Given the description of an element on the screen output the (x, y) to click on. 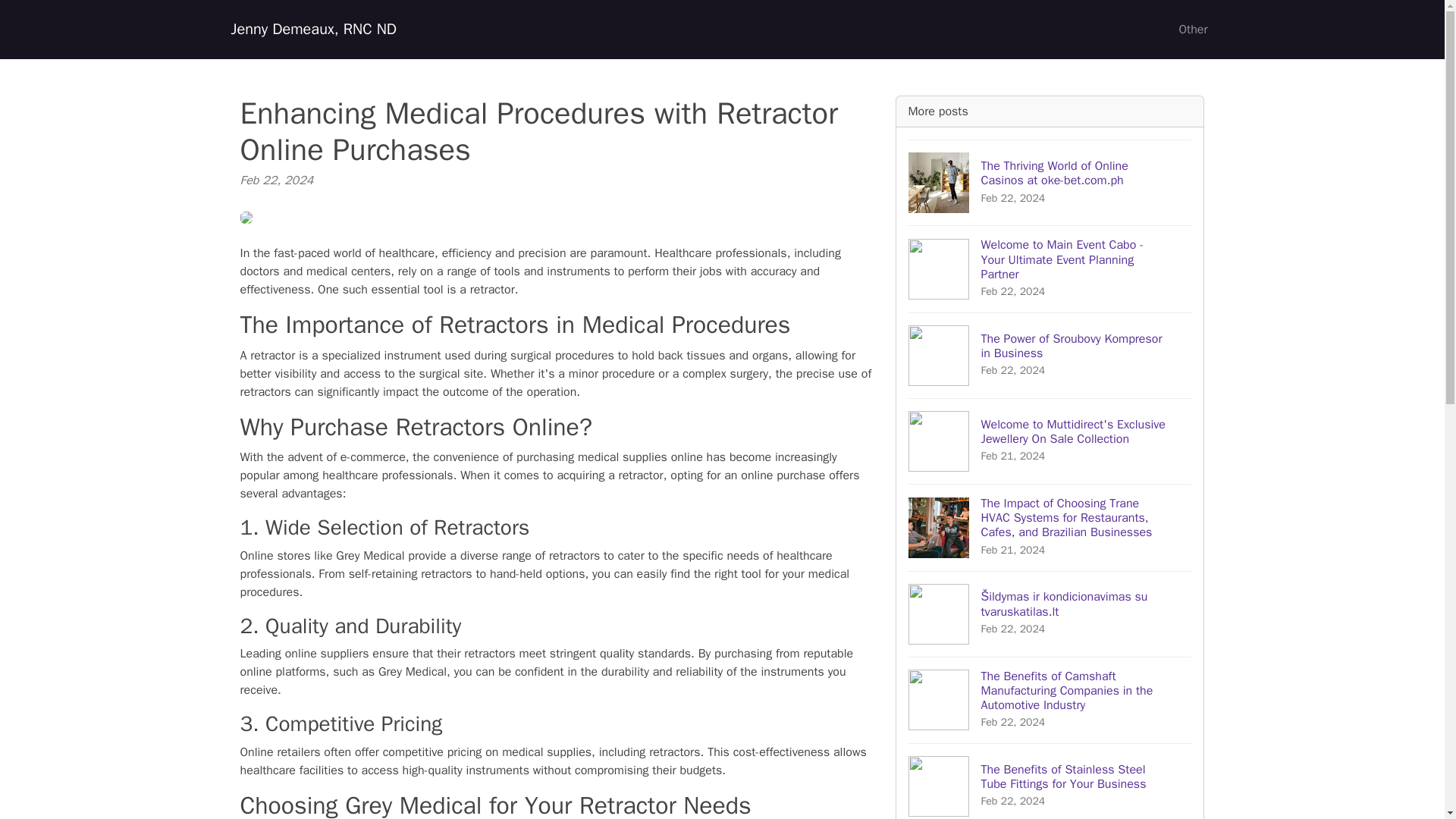
Jenny Demeaux, RNC ND (313, 29)
Other (1192, 29)
